Given the description of an element on the screen output the (x, y) to click on. 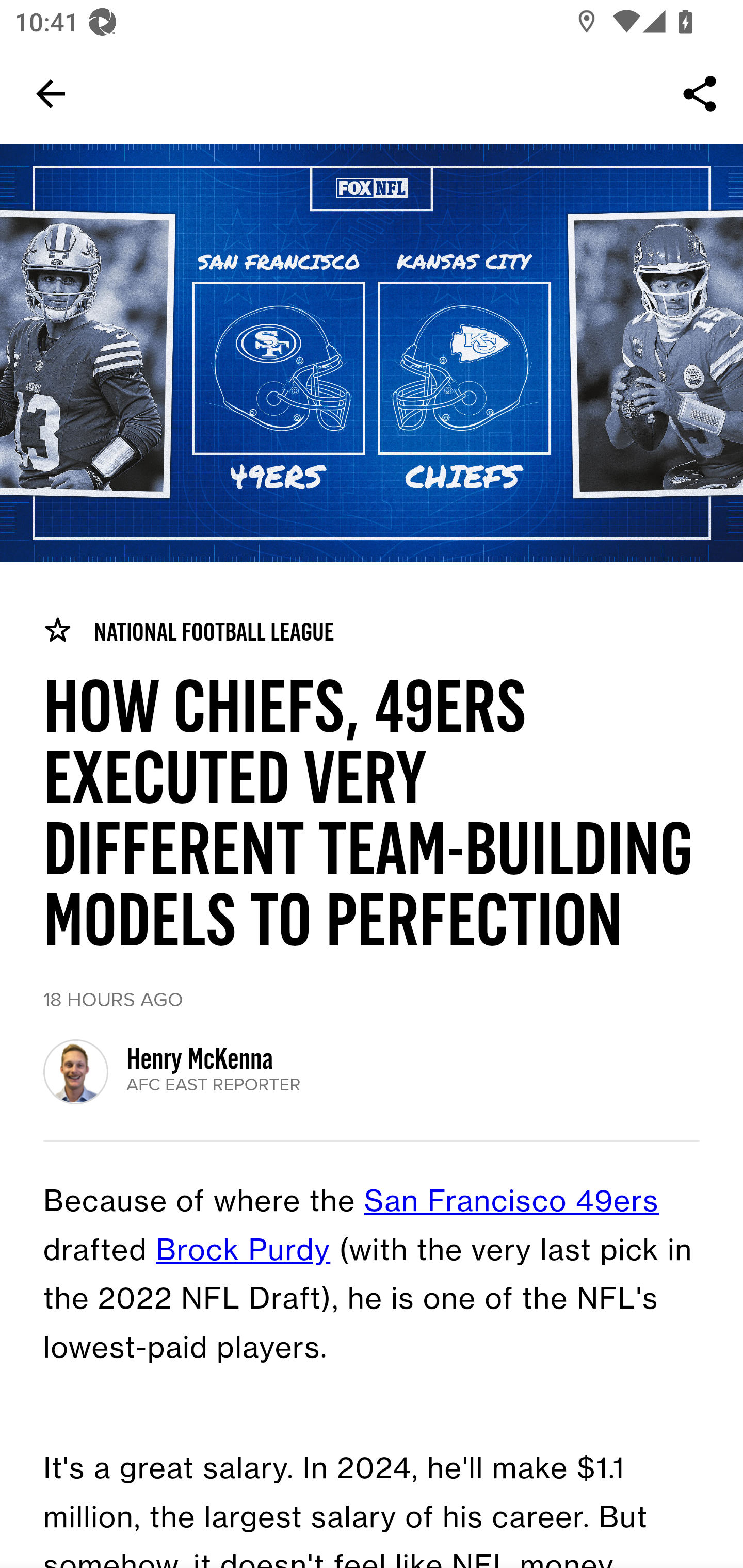
Navigate up (50, 93)
Share (699, 93)
NATIONAL FOOTBALL LEAGUE (188, 630)
San Francisco 49ers (511, 1202)
Brock Purdy (243, 1250)
